Given the description of an element on the screen output the (x, y) to click on. 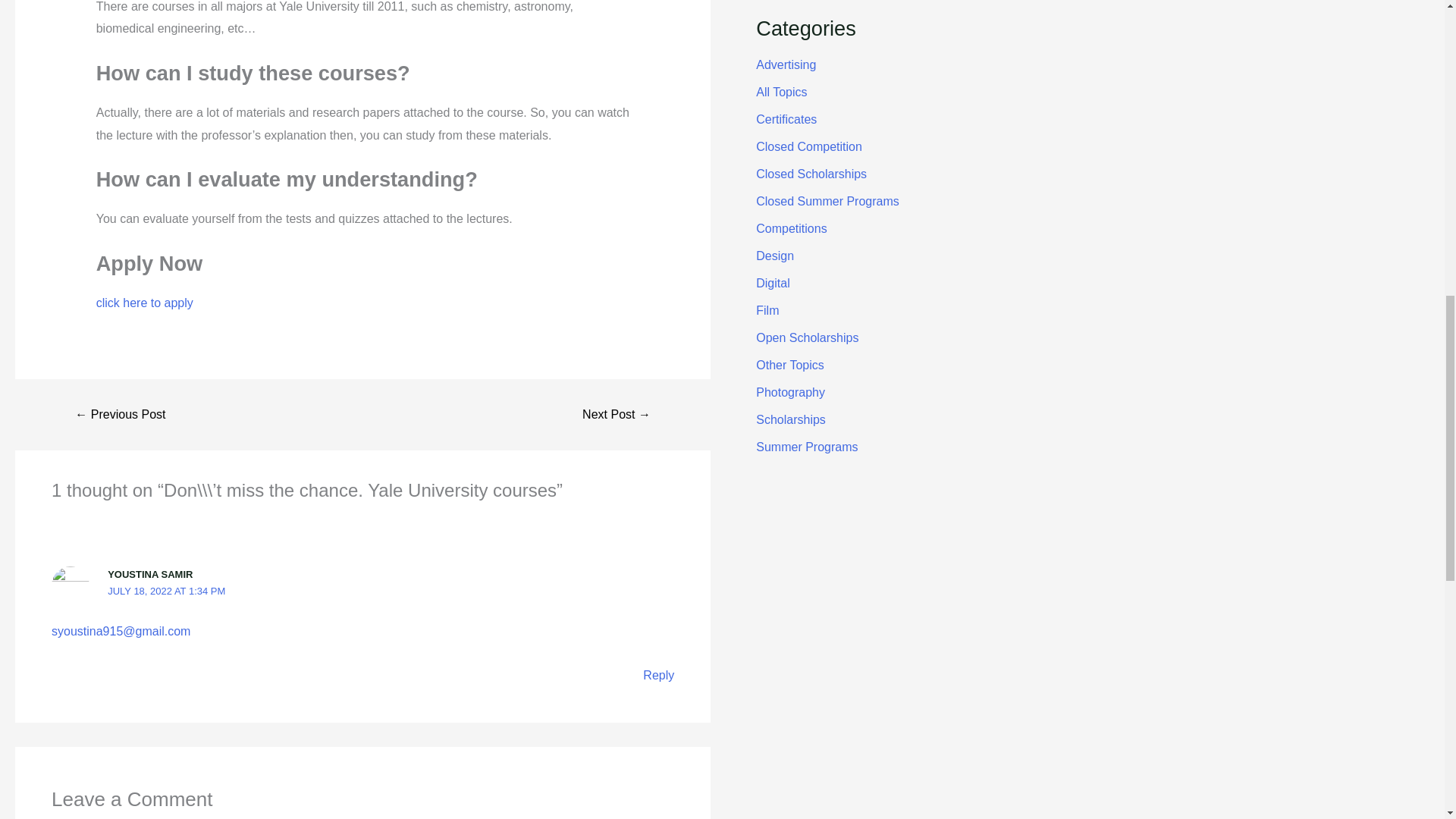
All you want to know about Bard College (616, 414)
All you want to know about Student Bono (119, 414)
JULY 18, 2022 AT 1:34 PM (166, 591)
click here to apply (144, 302)
Reply (658, 675)
